Given the description of an element on the screen output the (x, y) to click on. 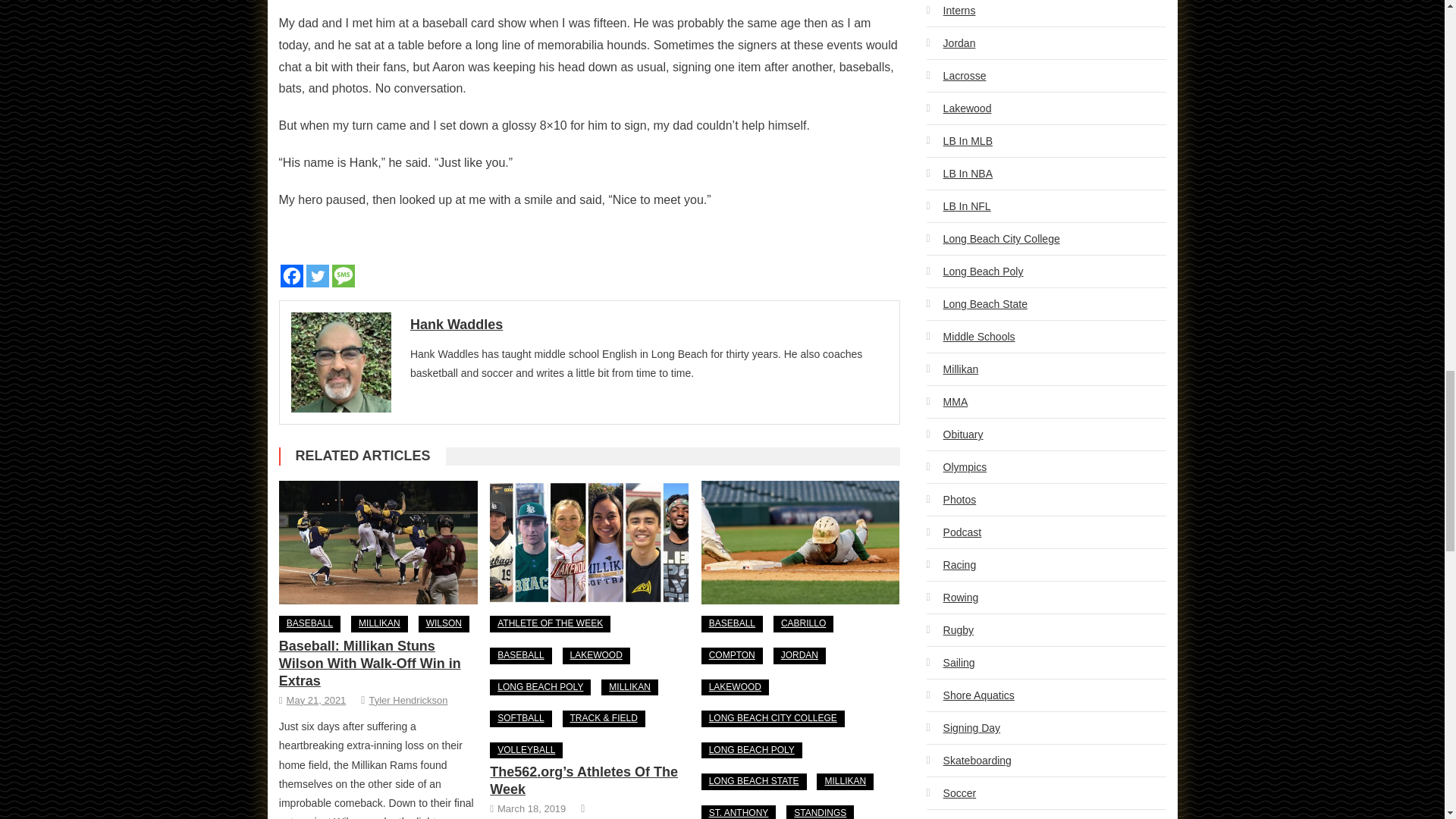
STANDINGS: Long Beach Baseball, Final Week (800, 542)
Baseball: Millikan Stuns Wilson With Walk-Off Win in Extras (378, 542)
Twitter (317, 275)
Facebook (291, 275)
SMS (343, 275)
